Given the description of an element on the screen output the (x, y) to click on. 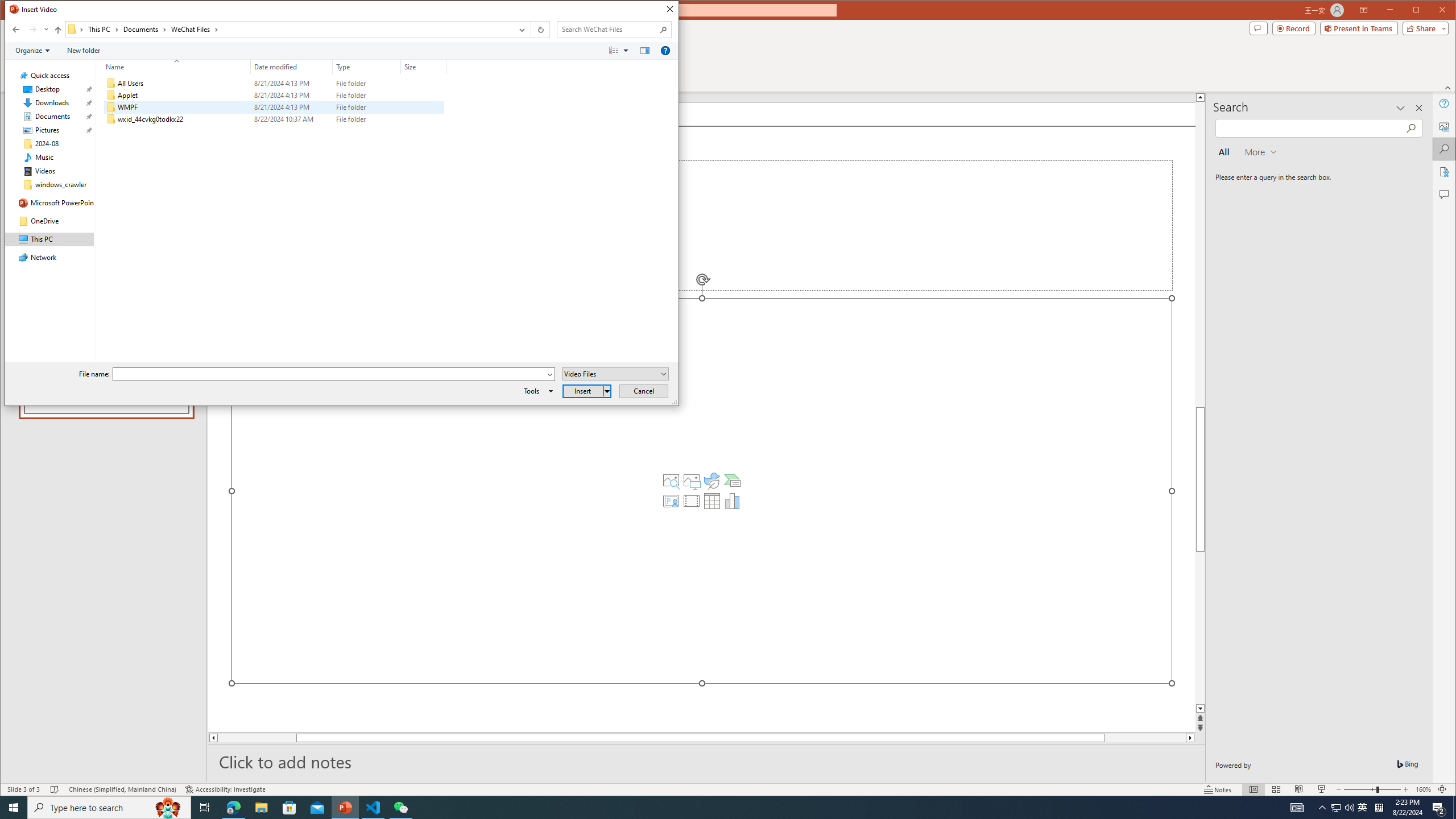
Pictures (691, 480)
Insert Chart (732, 501)
Documents (144, 29)
Navigation buttons (28, 29)
Stock Images (670, 480)
Previous Locations (520, 29)
